Given the description of an element on the screen output the (x, y) to click on. 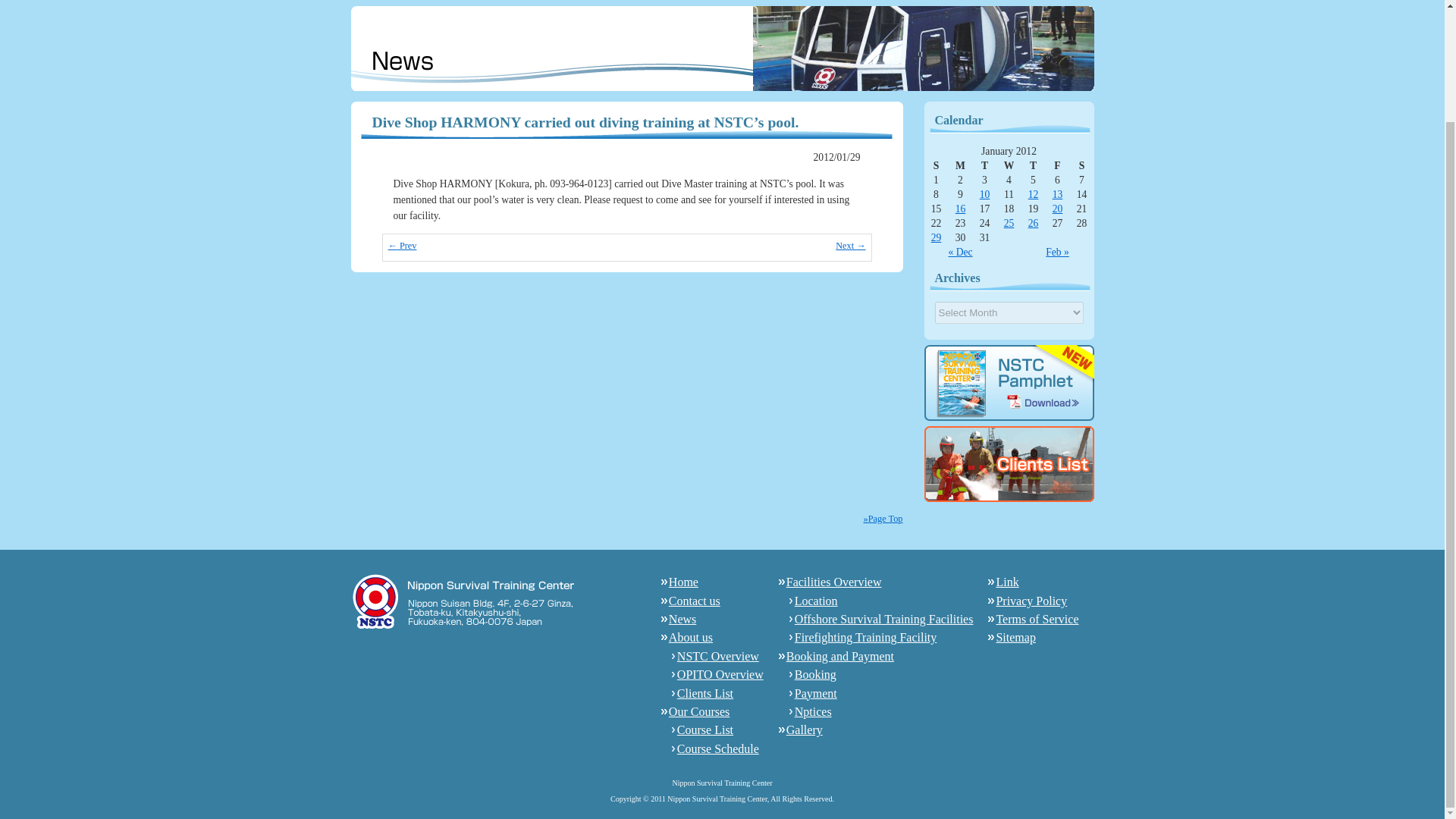
Home (683, 581)
View posts for February 2012 (1056, 251)
Saturday (1080, 165)
13 (1057, 194)
News (681, 618)
Thursday (1032, 165)
Friday (1056, 165)
16 (960, 208)
10 (984, 194)
12 (1033, 194)
